Given the description of an element on the screen output the (x, y) to click on. 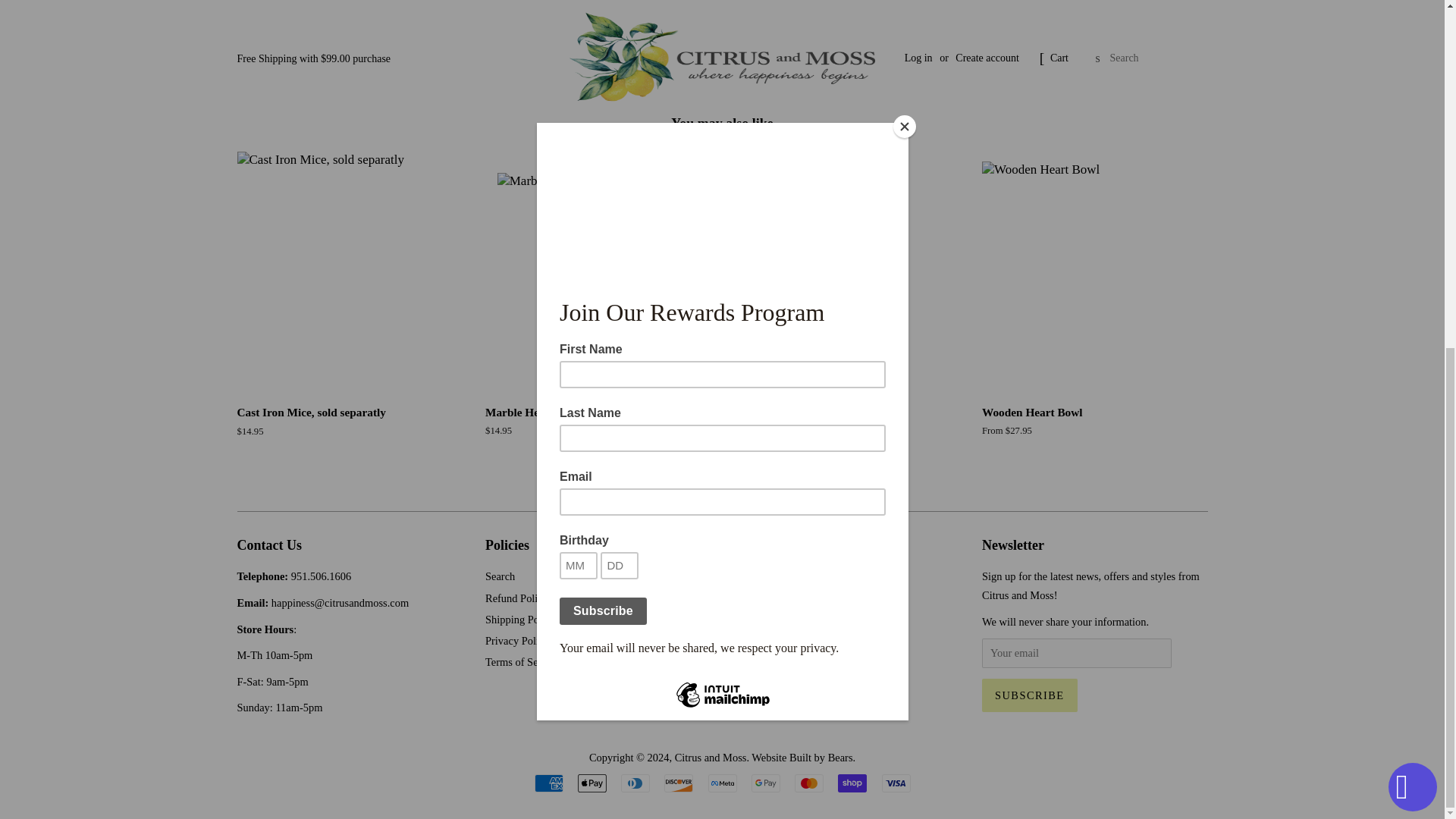
Subscribe (1029, 694)
Google Pay (765, 782)
Shop Pay (852, 782)
Meta Pay (721, 782)
Visa (895, 782)
Mastercard (809, 782)
American Express (548, 782)
Diners Club (635, 782)
Apple Pay (592, 782)
Discover (678, 782)
